Given the description of an element on the screen output the (x, y) to click on. 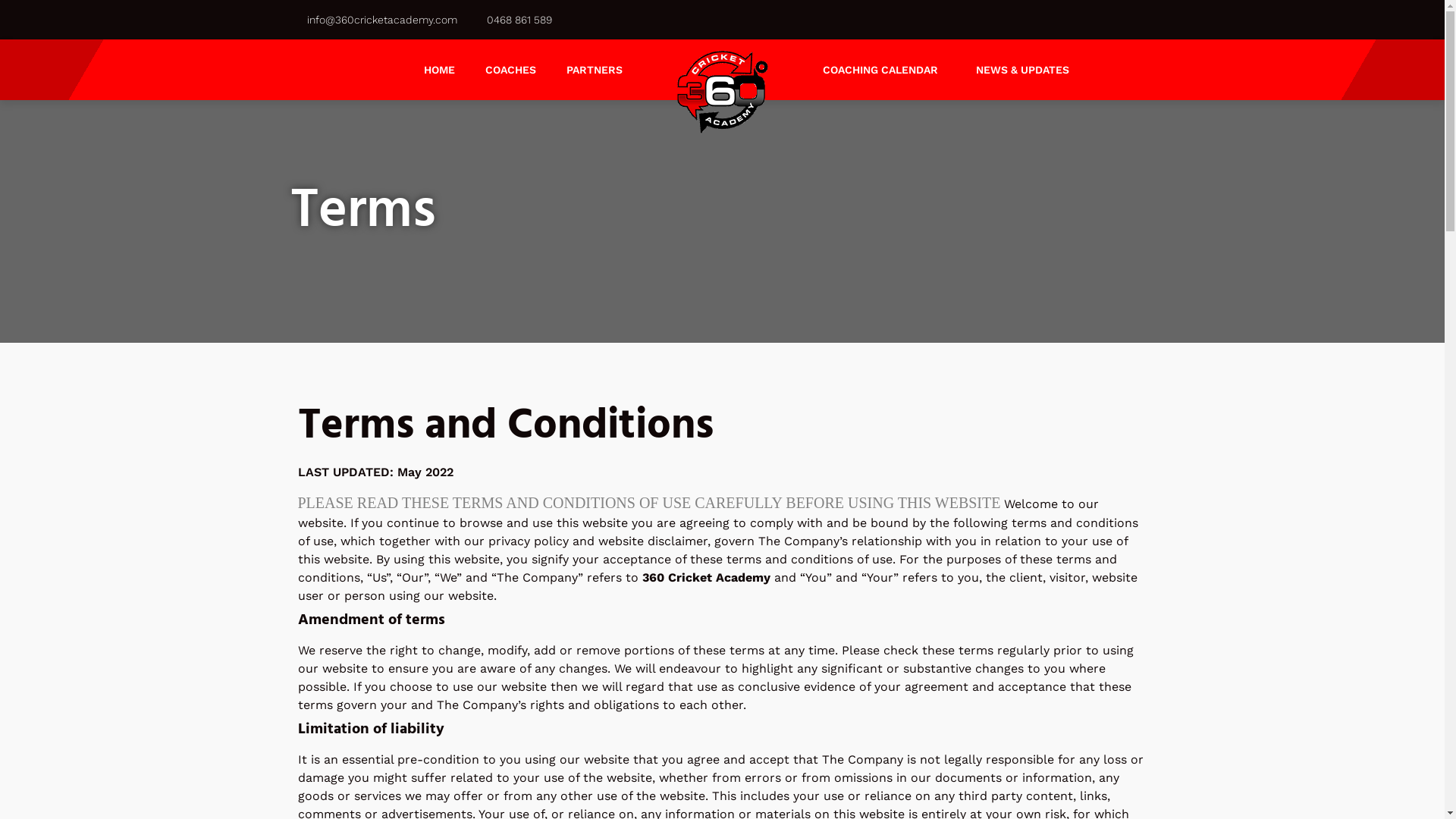
HOME Element type: text (438, 69)
COACHING CALENDAR Element type: text (883, 69)
NEWS & UPDATES Element type: text (1021, 69)
0468 861 589 Element type: text (519, 19)
PARTNERS Element type: text (593, 69)
COACHES Element type: text (510, 69)
